Given the description of an element on the screen output the (x, y) to click on. 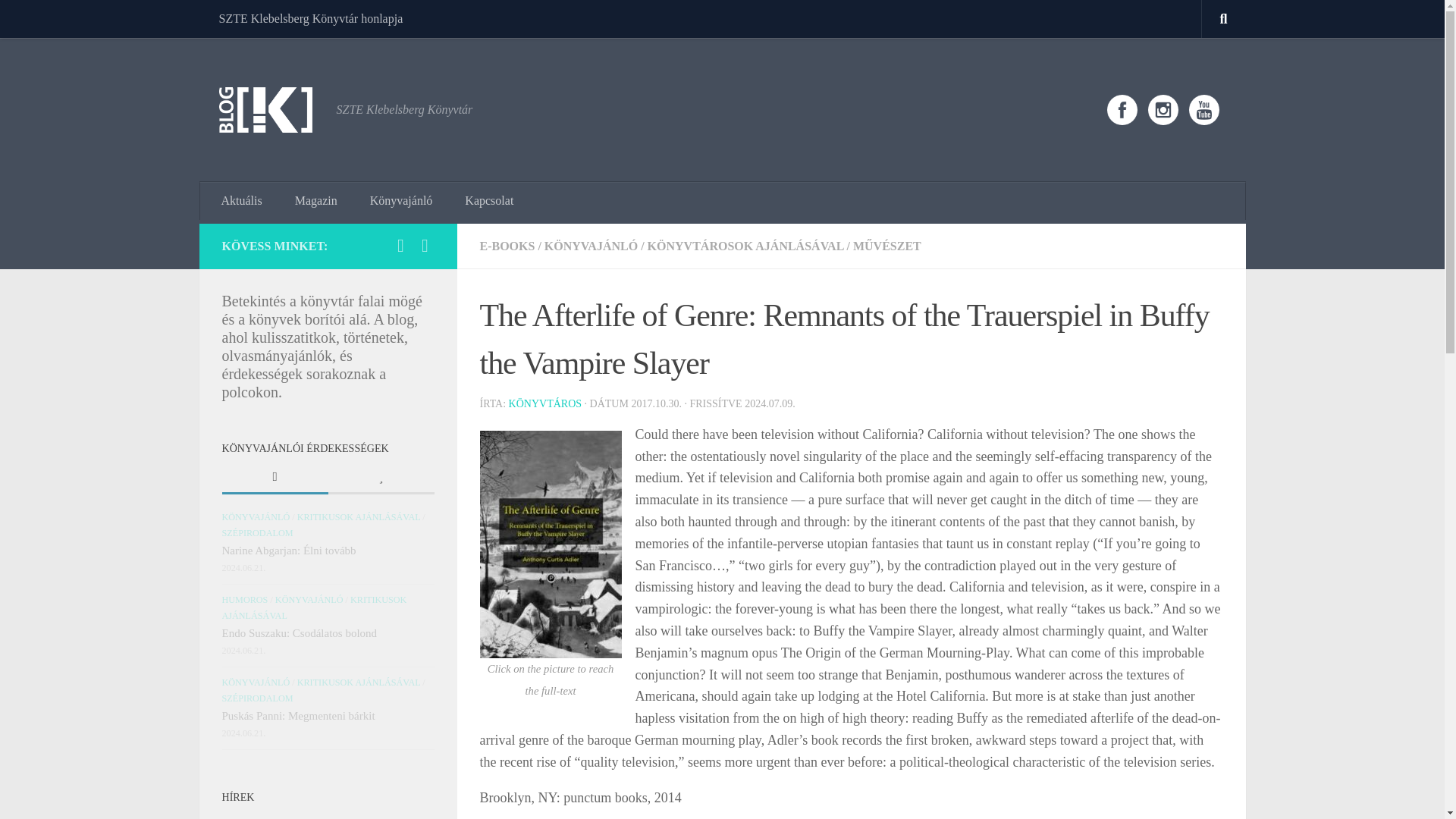
Magazin (315, 200)
Kapcsolat (489, 200)
RSS csatorna. (423, 245)
E-BOOKS (506, 245)
Skip to content (59, 20)
